Given the description of an element on the screen output the (x, y) to click on. 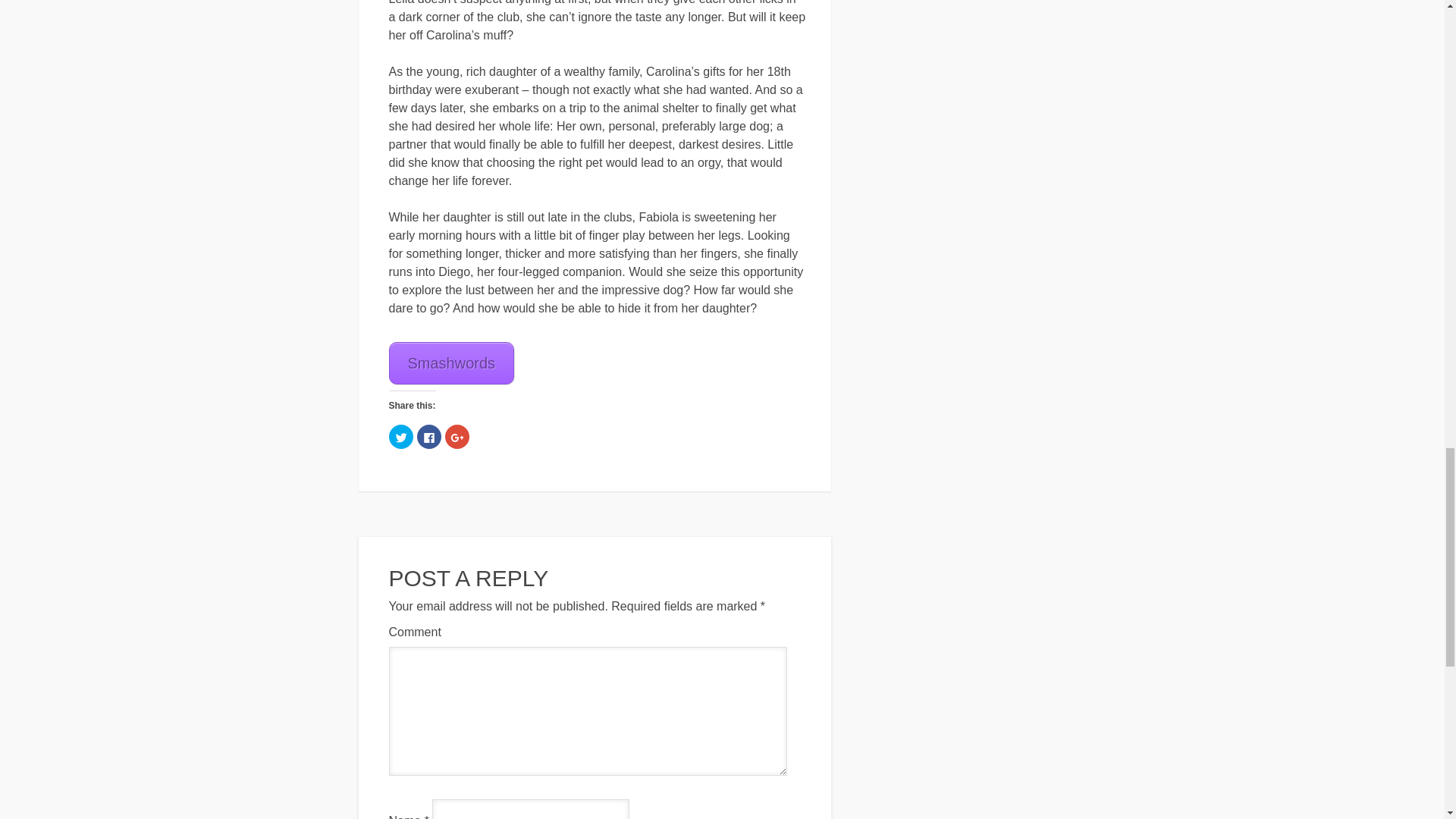
Smashwords (450, 363)
Click to share on Facebook (428, 436)
Click to share on Twitter (400, 436)
